Given the description of an element on the screen output the (x, y) to click on. 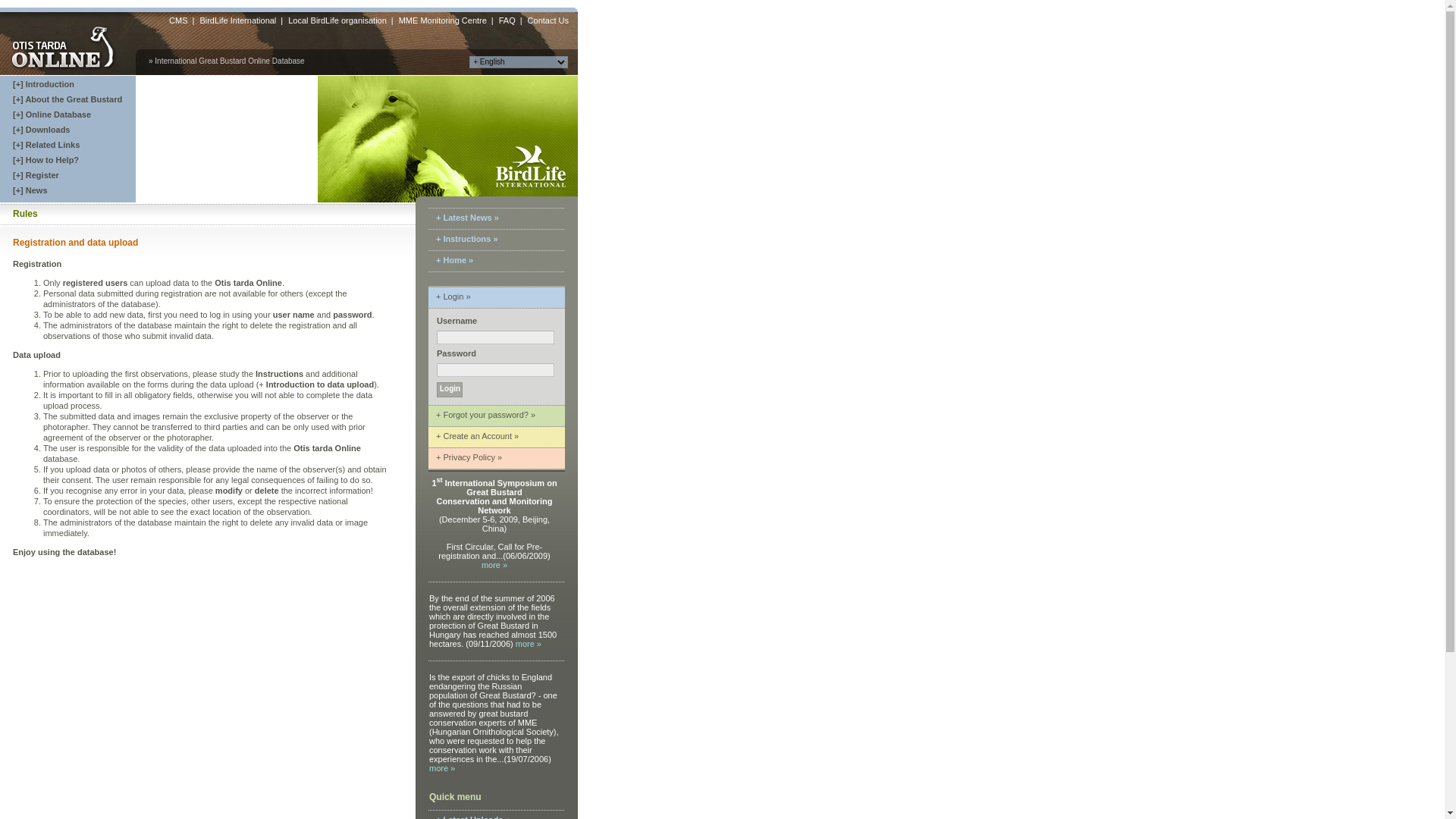
Login (449, 389)
Contact Us (547, 17)
BirdLife International (237, 17)
FAQ (507, 17)
Local BirdLife organisation (336, 17)
Login (449, 389)
CMS (177, 17)
MME Monitoring Centre (442, 17)
